Given the description of an element on the screen output the (x, y) to click on. 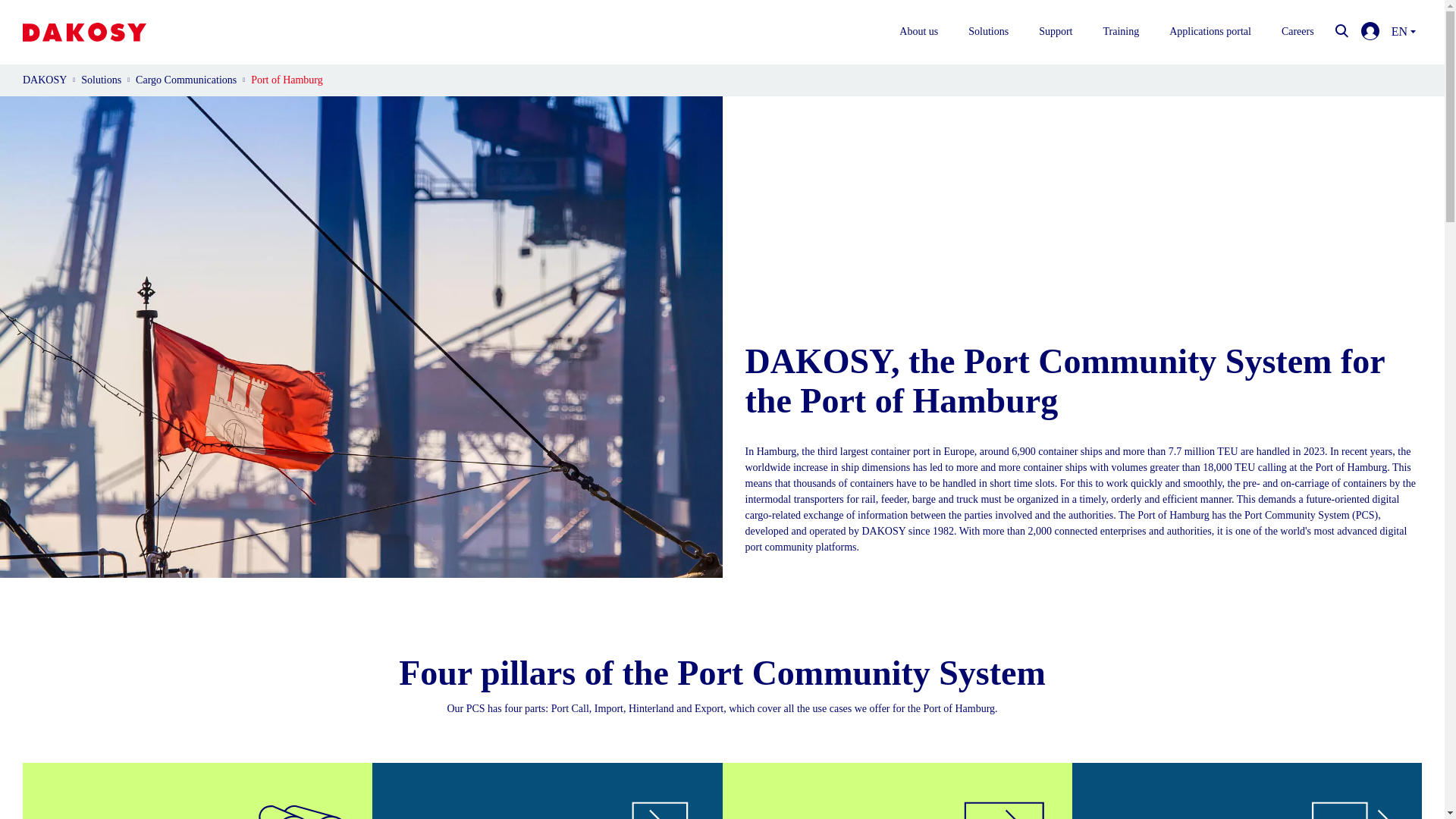
About us (918, 31)
Solutions (988, 31)
Cargo Communications (185, 79)
Solutions (100, 79)
